Given the description of an element on the screen output the (x, y) to click on. 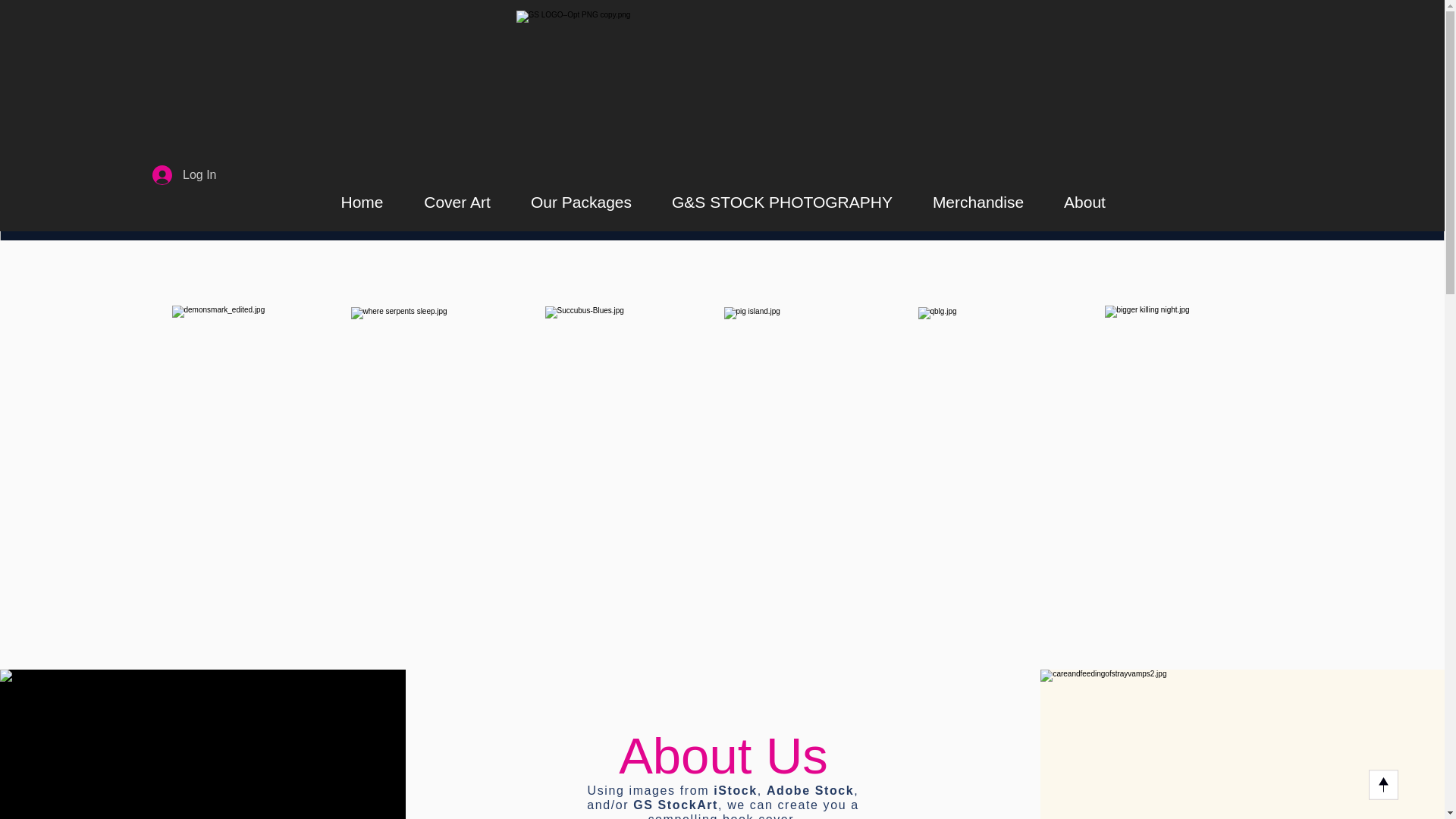
Home (361, 202)
Merchandise (977, 202)
GS LOGO PNG copy.png (722, 88)
Log In (184, 174)
About (1084, 202)
Our Packages (581, 202)
Cover Art (457, 202)
